Given the description of an element on the screen output the (x, y) to click on. 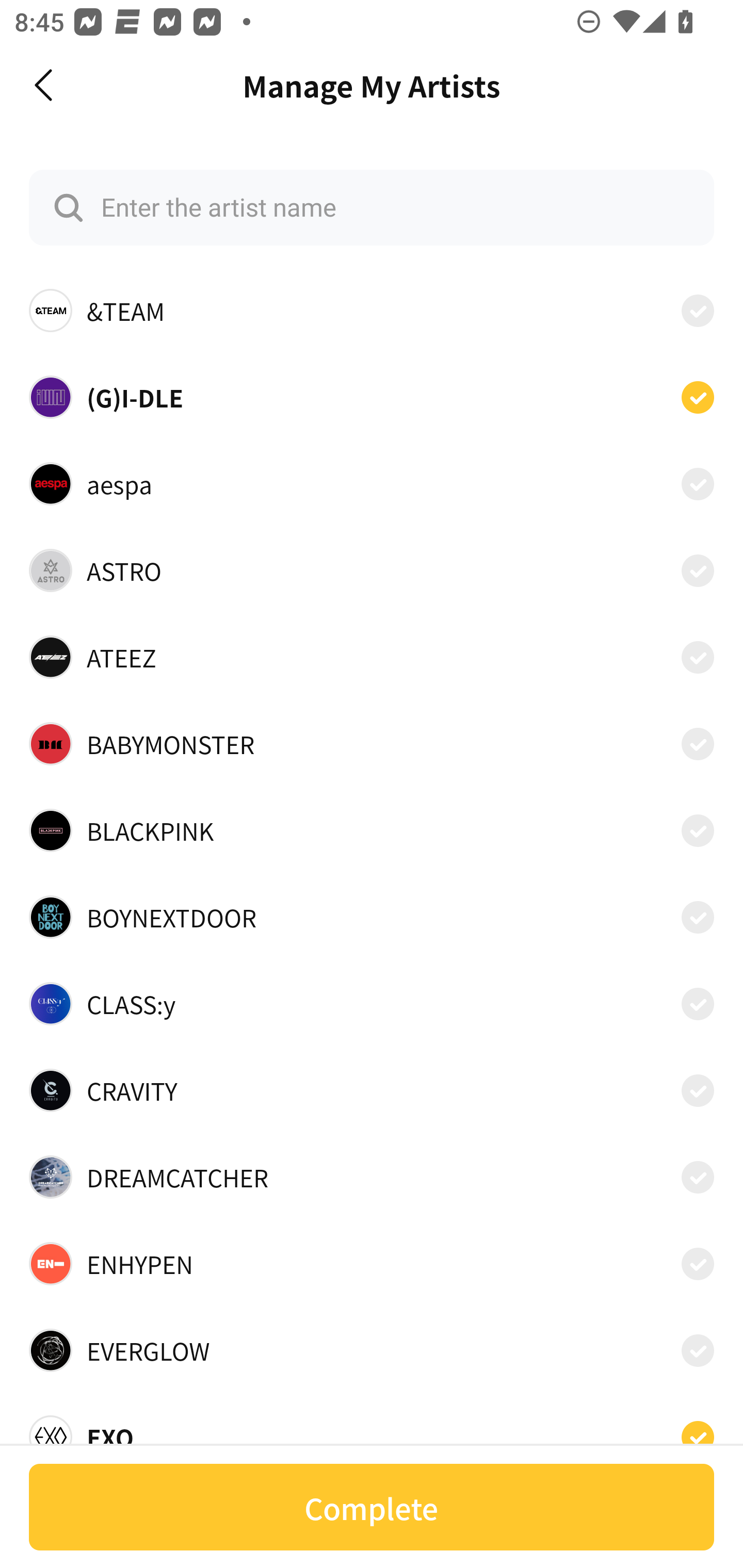
Enter the artist name (371, 207)
&TEAM (371, 310)
(G)I-DLE (371, 396)
aespa (371, 483)
ASTRO (371, 570)
ATEEZ (371, 656)
BABYMONSTER (371, 743)
BLACKPINK (371, 830)
BOYNEXTDOOR (371, 917)
CLASS:y (371, 1003)
CRAVITY (371, 1090)
DREAMCATCHER (371, 1176)
ENHYPEN (371, 1263)
EVERGLOW (371, 1350)
EXO (371, 1430)
Complete (371, 1507)
